Given the description of an element on the screen output the (x, y) to click on. 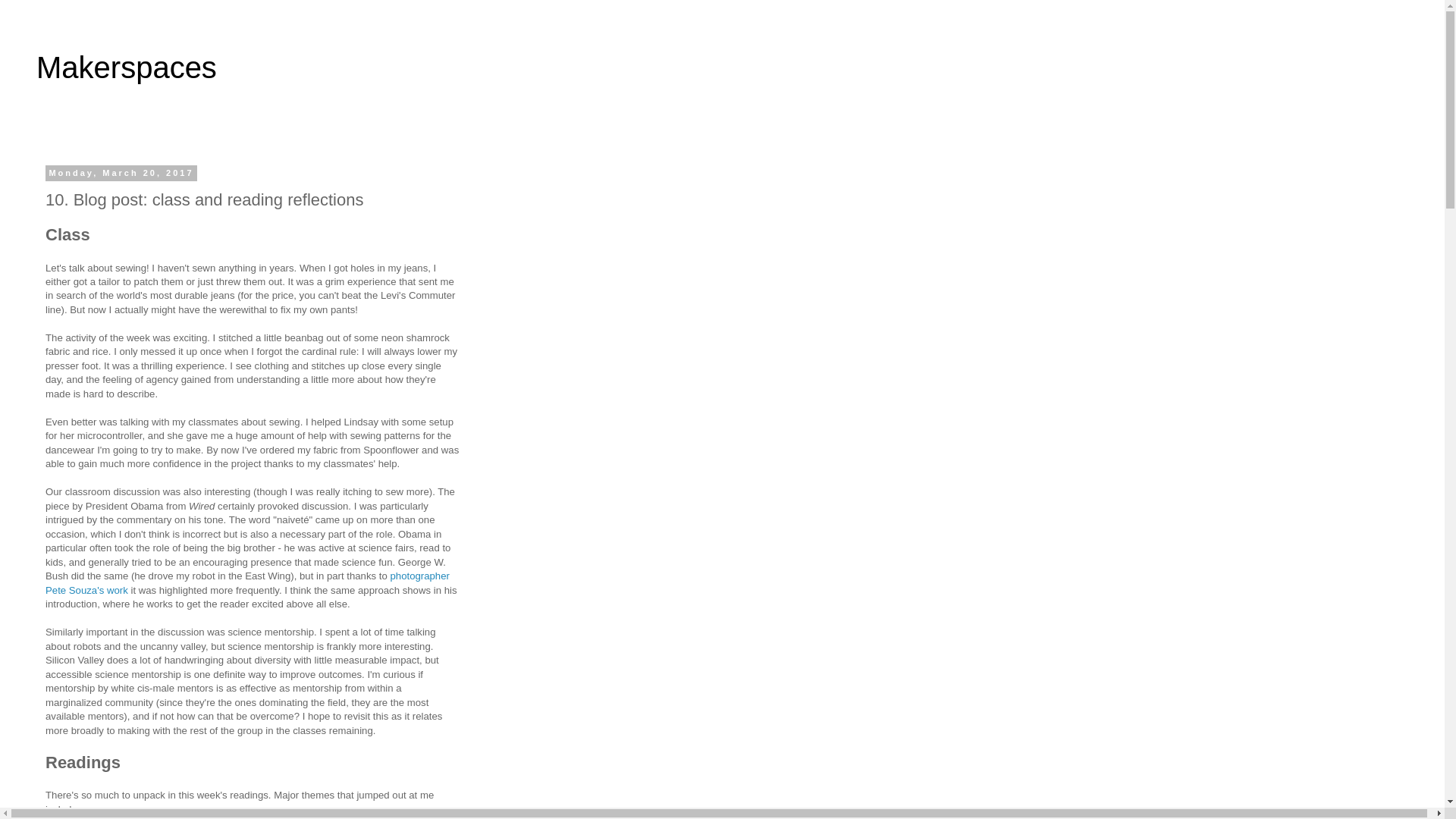
photographer Pete Souza's work Element type: text (247, 582)
Makerspaces Element type: text (126, 67)
